Given the description of an element on the screen output the (x, y) to click on. 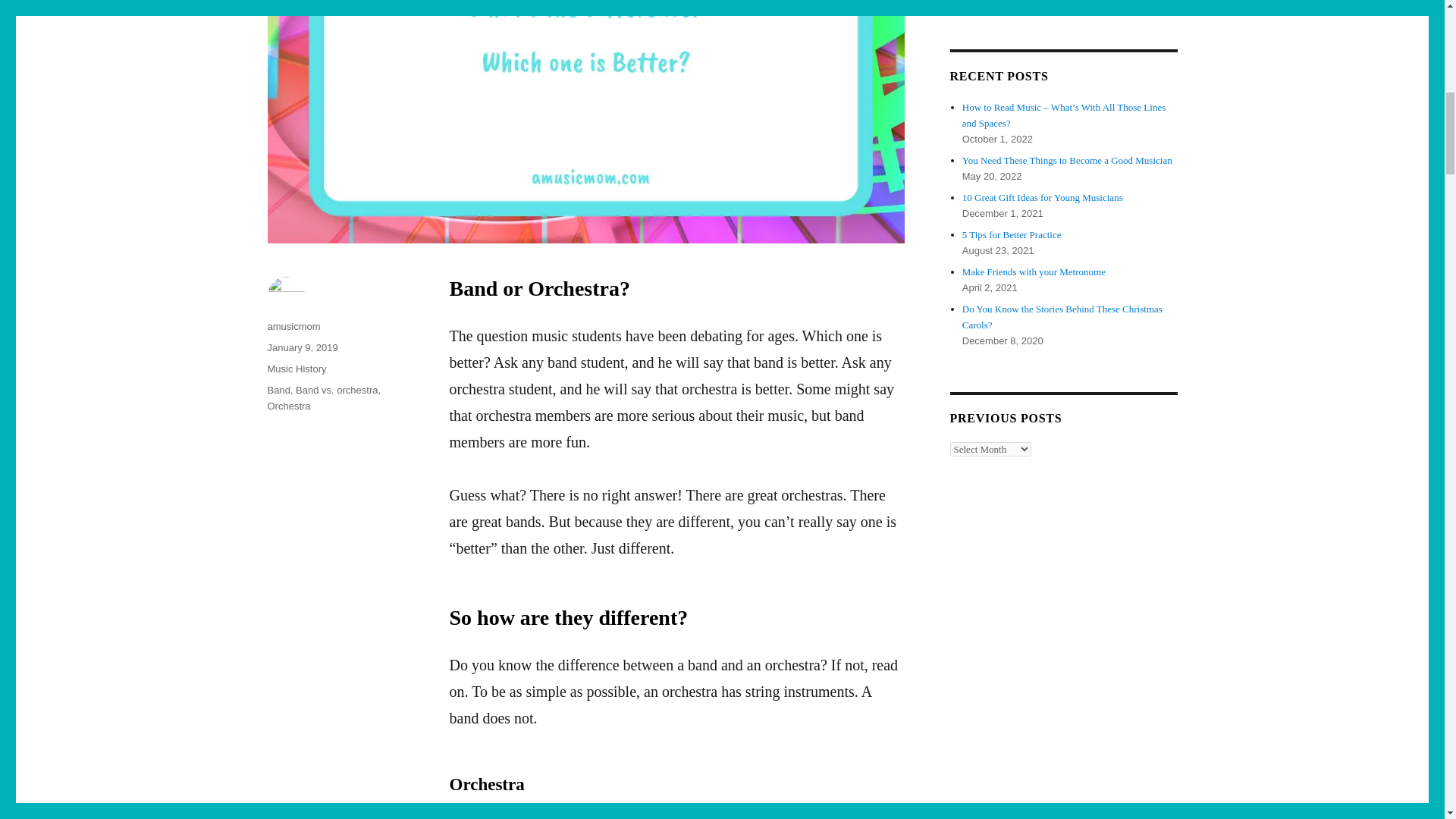
January 9, 2019 (301, 347)
Band vs. orchestra (336, 389)
Music History (296, 368)
amusicmom (293, 326)
Band (277, 389)
Orchestra (288, 405)
